Given the description of an element on the screen output the (x, y) to click on. 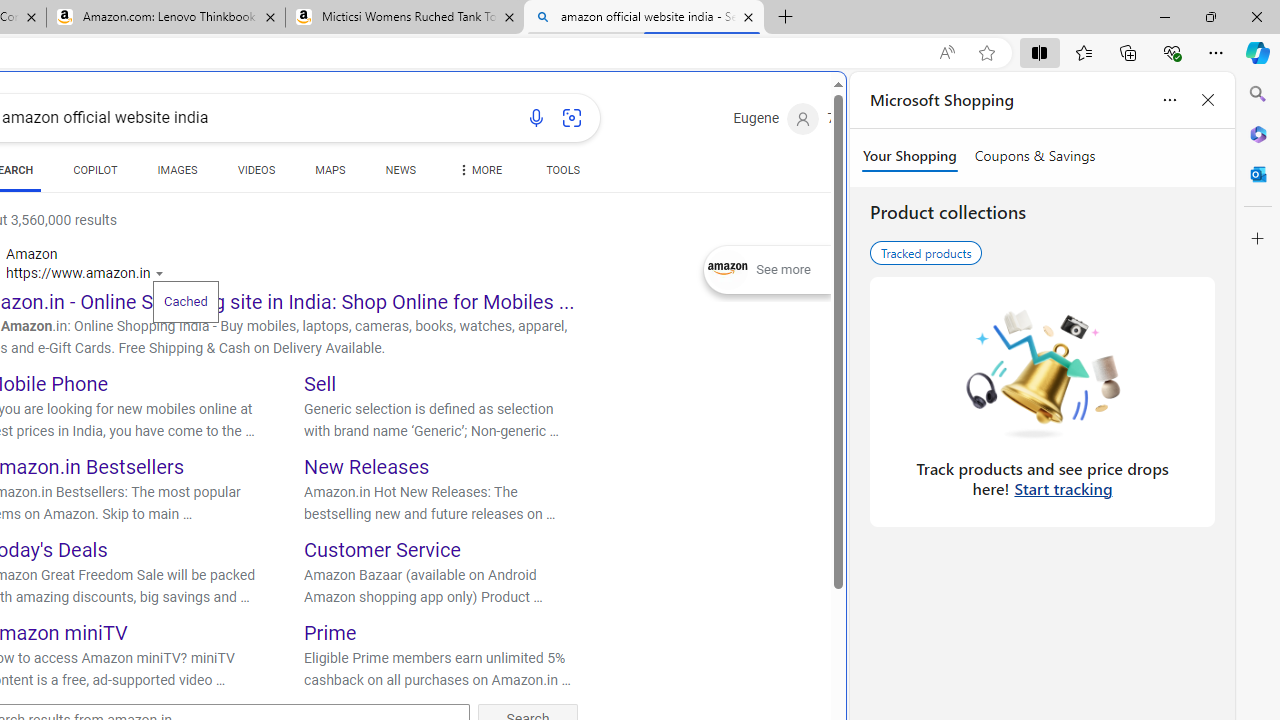
Search using an image (572, 117)
Cached (185, 300)
TOOLS (562, 173)
COPILOT (95, 173)
MAPS (330, 173)
MAPS (330, 170)
